Given the description of an element on the screen output the (x, y) to click on. 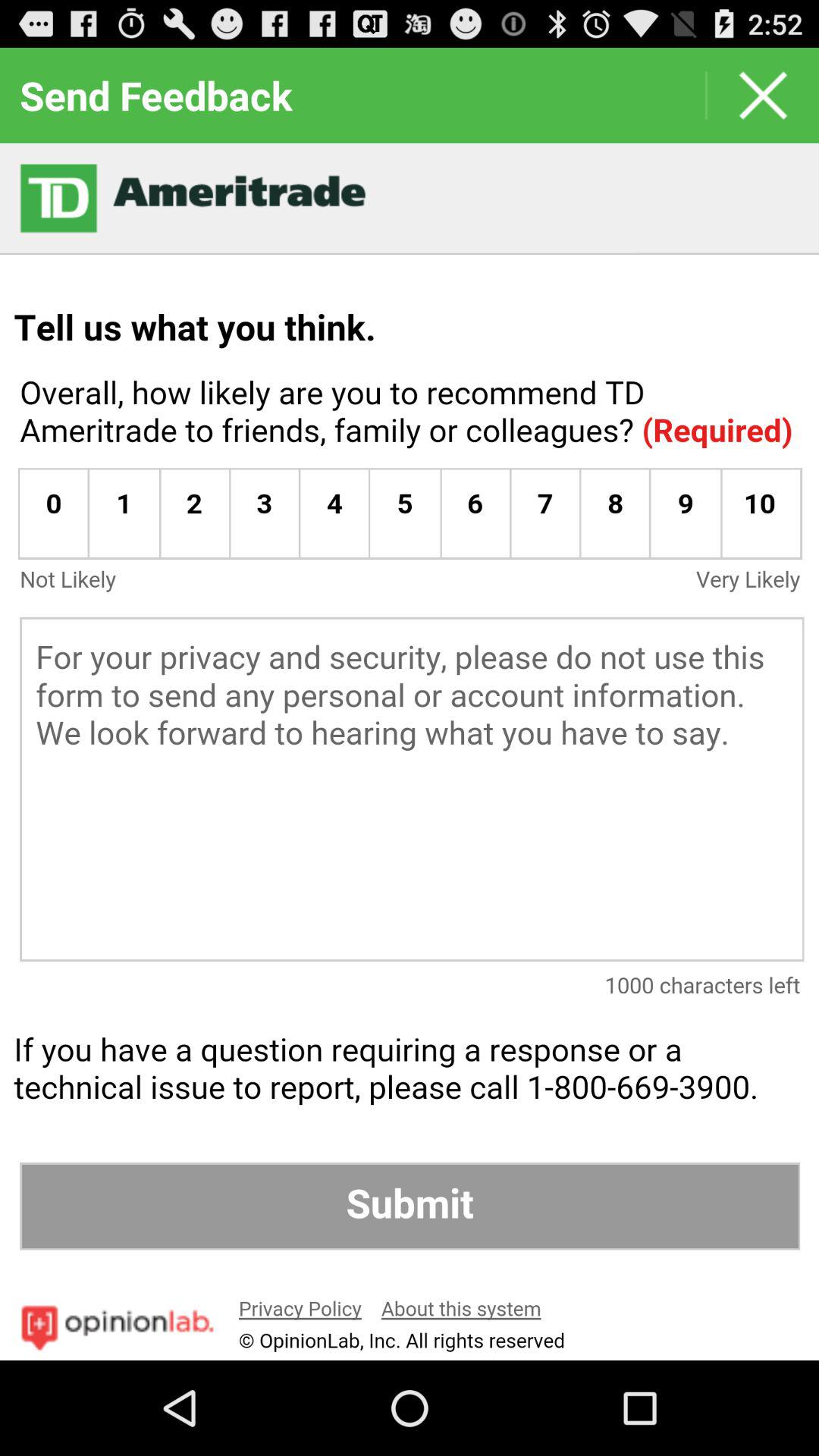
close the page (763, 95)
